Given the description of an element on the screen output the (x, y) to click on. 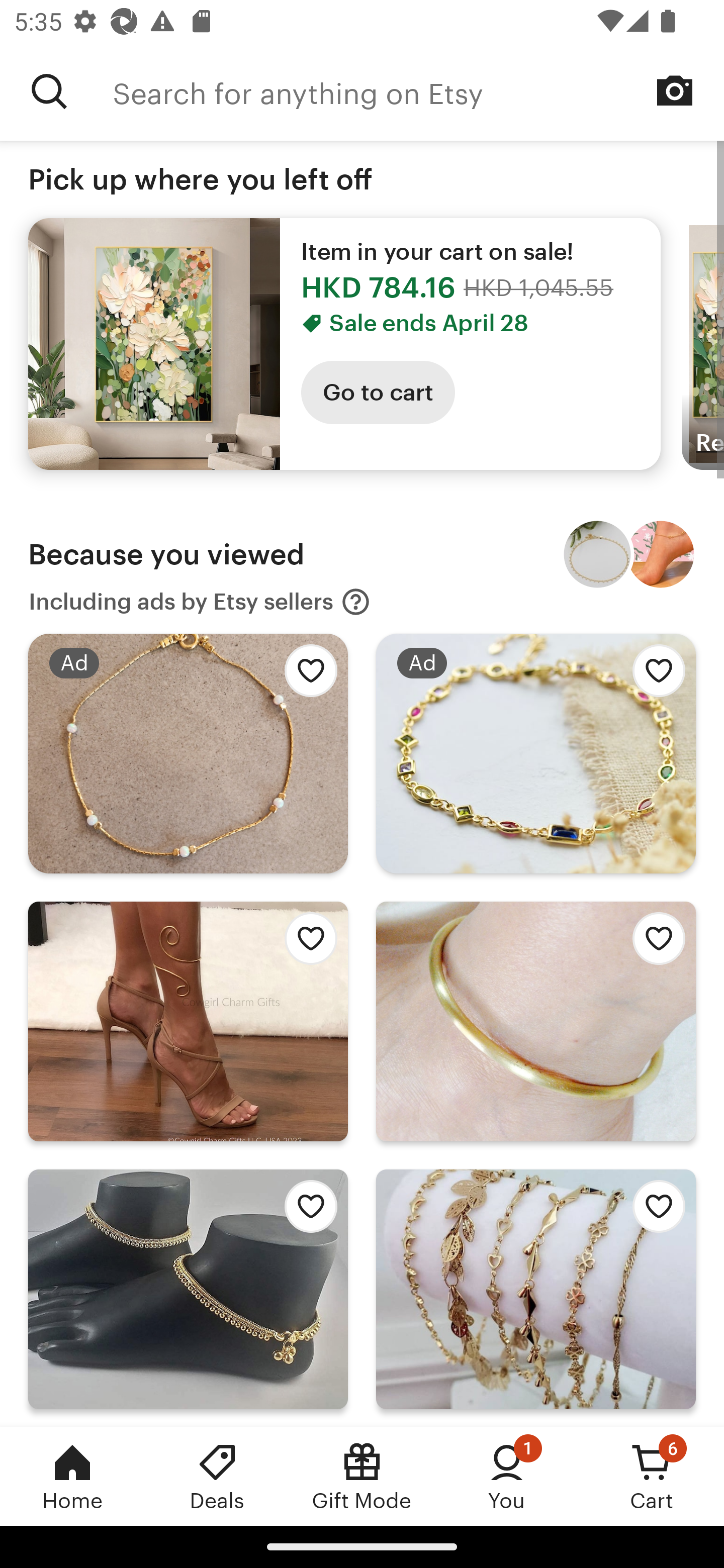
Search for anything on Etsy (49, 91)
Search by image (674, 90)
Search for anything on Etsy (418, 91)
Including ads by Etsy sellers (199, 601)
Deals (216, 1475)
Gift Mode (361, 1475)
You, 1 new notification You (506, 1475)
Cart, 6 new notifications Cart (651, 1475)
